Given the description of an element on the screen output the (x, y) to click on. 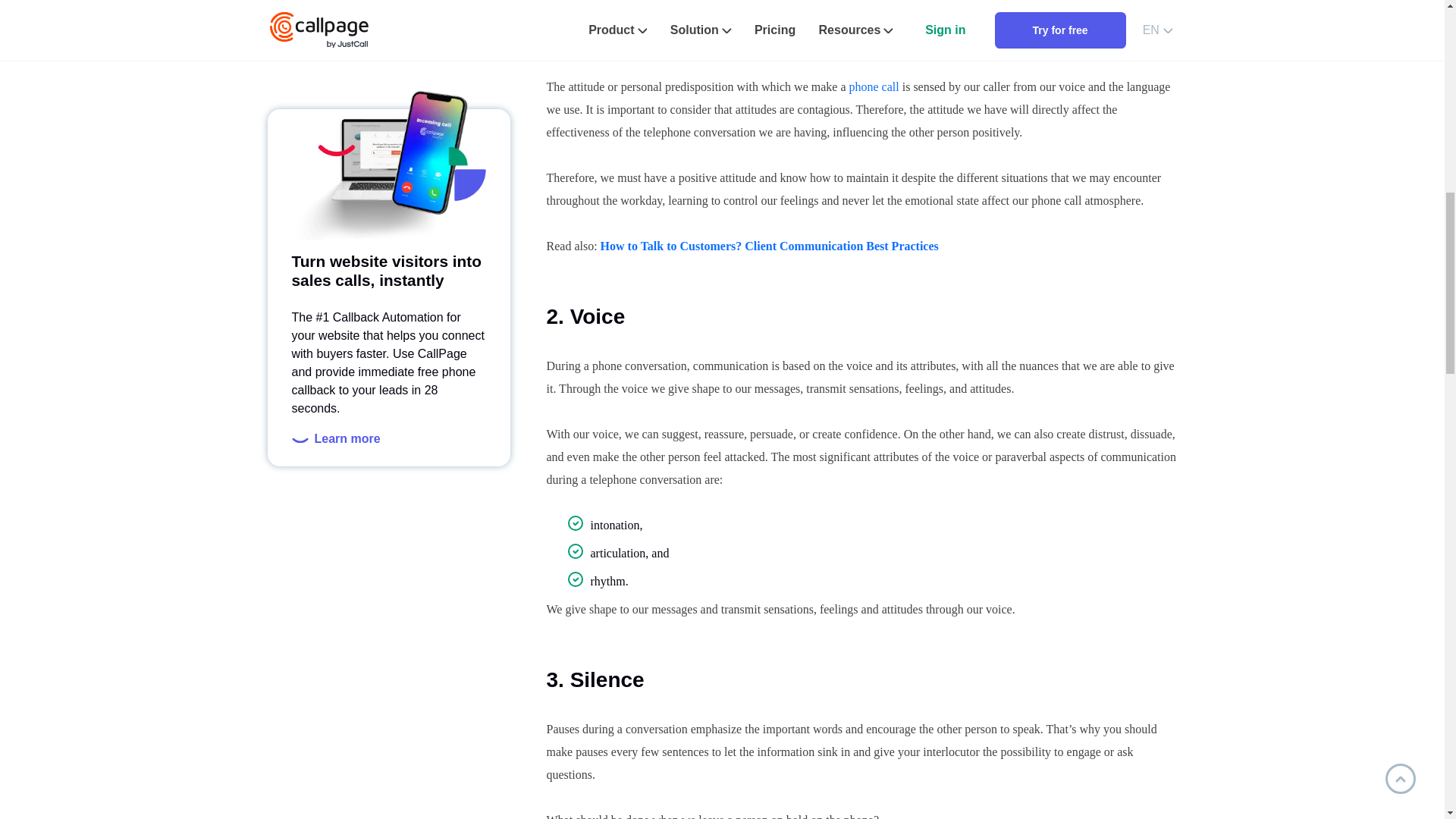
phone call (873, 86)
